Given the description of an element on the screen output the (x, y) to click on. 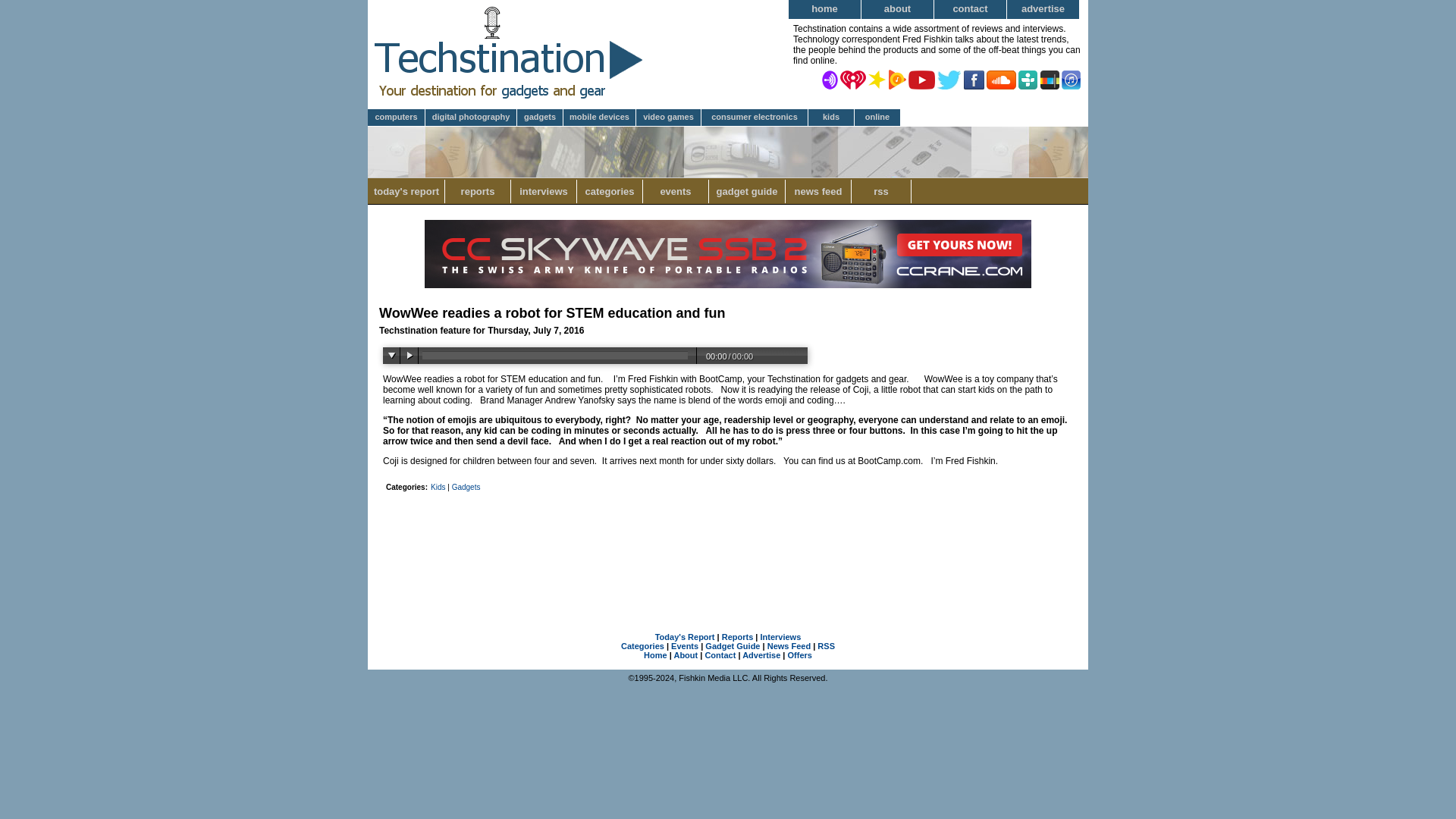
gadgets (539, 117)
events (676, 191)
Visit Techstination on SoundCloud (1001, 78)
Subscribe to Techstination on YouTube (921, 78)
gadget guide (747, 191)
Advertisement (727, 596)
Visit Techstination on iTunes (1070, 78)
Follow Techstination on Twitter (948, 78)
interviews (543, 191)
contact (609, 191)
computers (970, 9)
reports (396, 117)
Visit our sponsor: C. Crane Company, Inc. (478, 191)
Listen to Techstination on Google Play Music (727, 285)
